Given the description of an element on the screen output the (x, y) to click on. 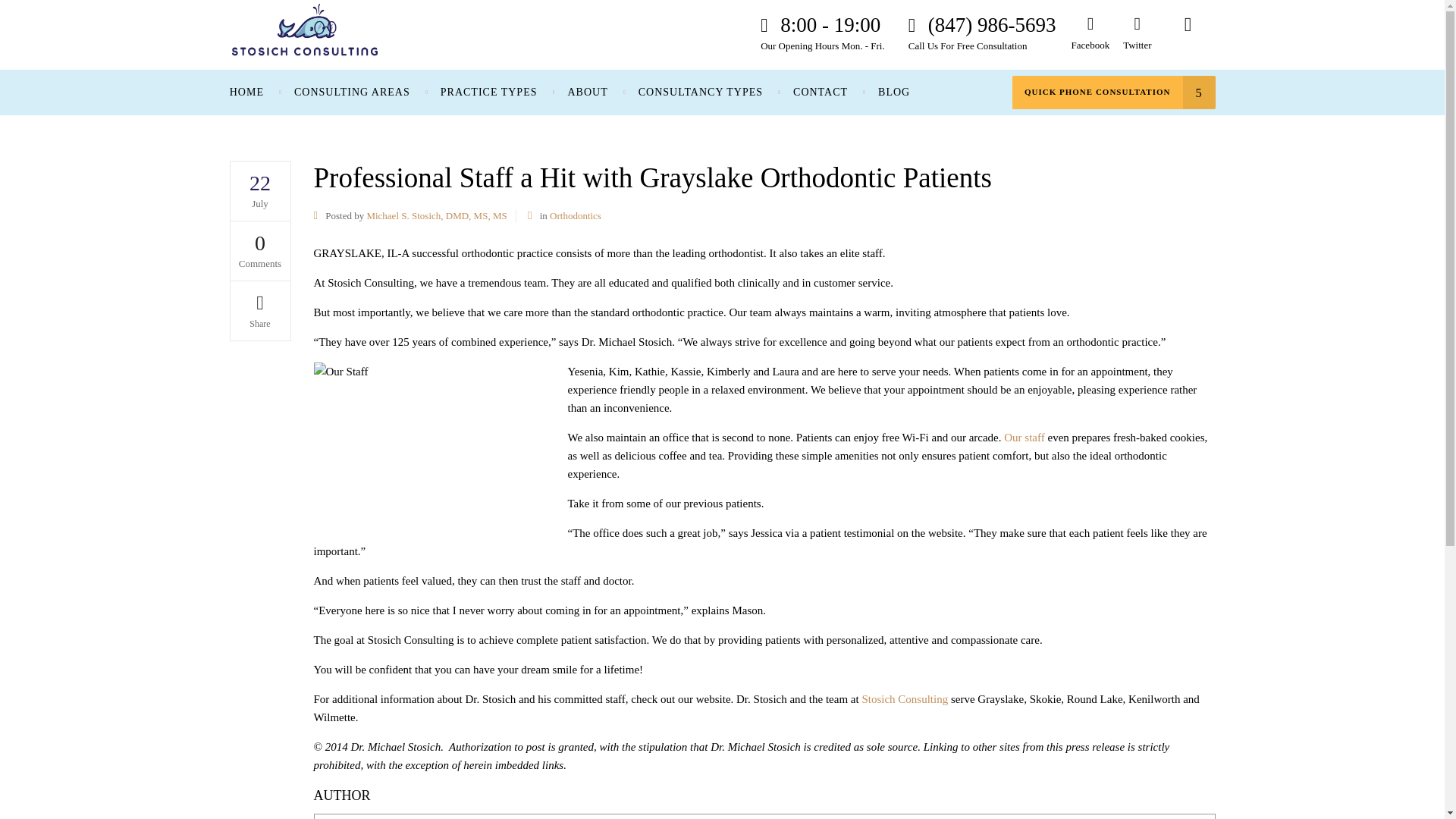
ABOUT (587, 92)
CONTACT (820, 92)
QUICK PHONE CONSULTATION (1113, 92)
PRACTICE TYPES (489, 92)
U (975, 414)
BLOG (893, 92)
Search (1186, 33)
CONSULTING AREAS (352, 92)
CONSULTANCY TYPES (700, 92)
HOME (254, 92)
